Given the description of an element on the screen output the (x, y) to click on. 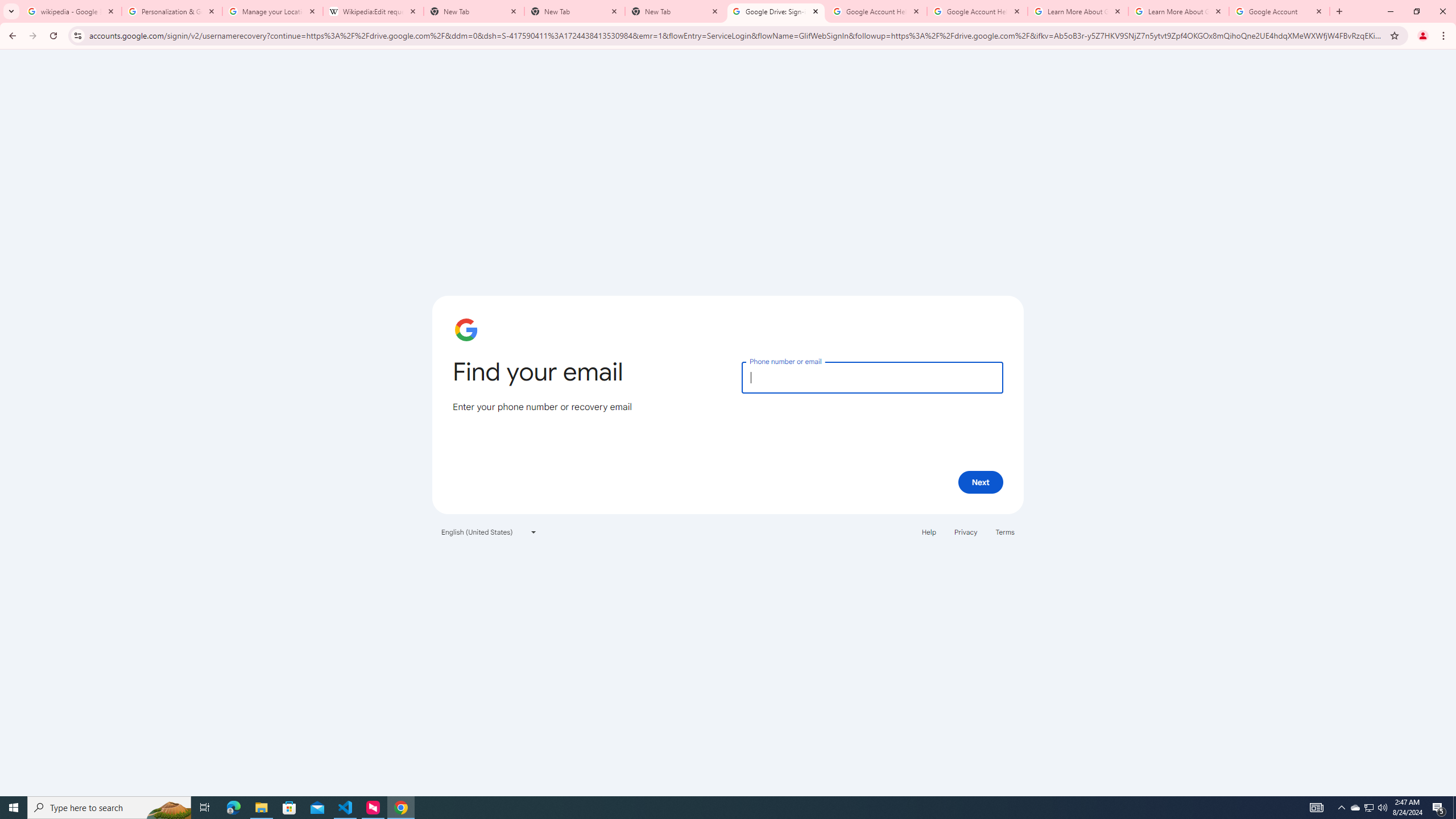
Google Account Help (876, 11)
Google Drive: Sign-in (775, 11)
Phone number or email (871, 376)
